Given the description of an element on the screen output the (x, y) to click on. 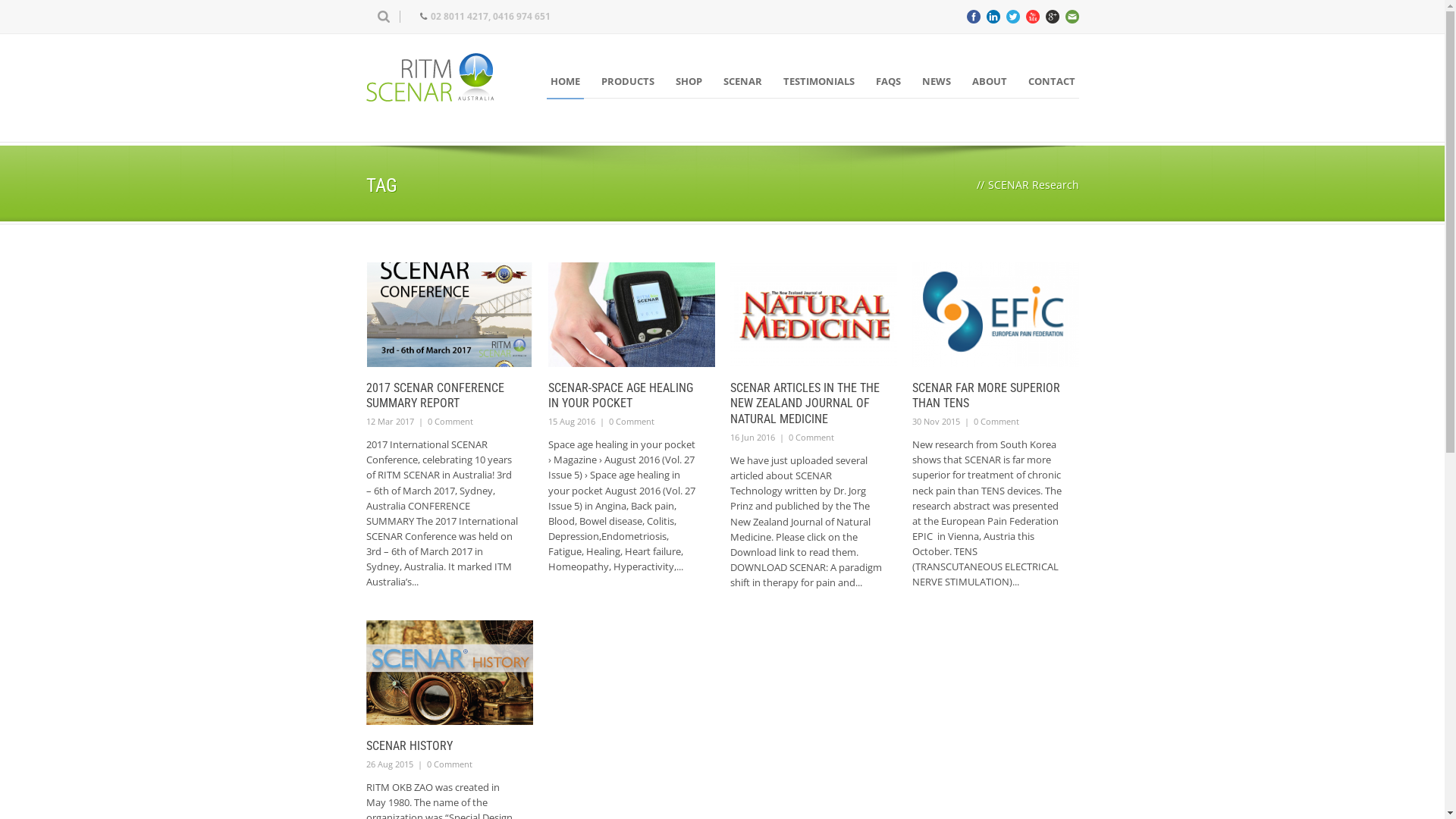
2017 SCENAR CONFERENCE SUMMARY REPORT Element type: text (434, 395)
FAQS Element type: text (888, 81)
SCENAR FAR MORE SUPERIOR THAN TENS Element type: text (985, 395)
NEWS Element type: text (935, 81)
0 Comment Element type: text (448, 763)
26 Aug 2015 Element type: text (388, 763)
PRODUCTS Element type: text (627, 81)
0 Comment Element type: text (450, 420)
CONTACT Element type: text (1050, 81)
SCENAR HISTORY Element type: text (408, 745)
SHOP Element type: text (688, 81)
SCENAR-SPACE AGE HEALING IN YOUR POCKET Element type: text (619, 395)
12 Mar 2017 Element type: text (389, 420)
30 Nov 2015 Element type: text (935, 420)
15 Aug 2016 Element type: text (570, 420)
ABOUT Element type: text (988, 81)
0 Comment Element type: text (811, 436)
0 Comment Element type: text (996, 420)
TESTIMONIALS Element type: text (818, 81)
16 Jun 2016 Element type: text (751, 436)
0 Comment Element type: text (630, 420)
SCENAR Element type: text (741, 81)
HOME Element type: text (564, 81)
